Given the description of an element on the screen output the (x, y) to click on. 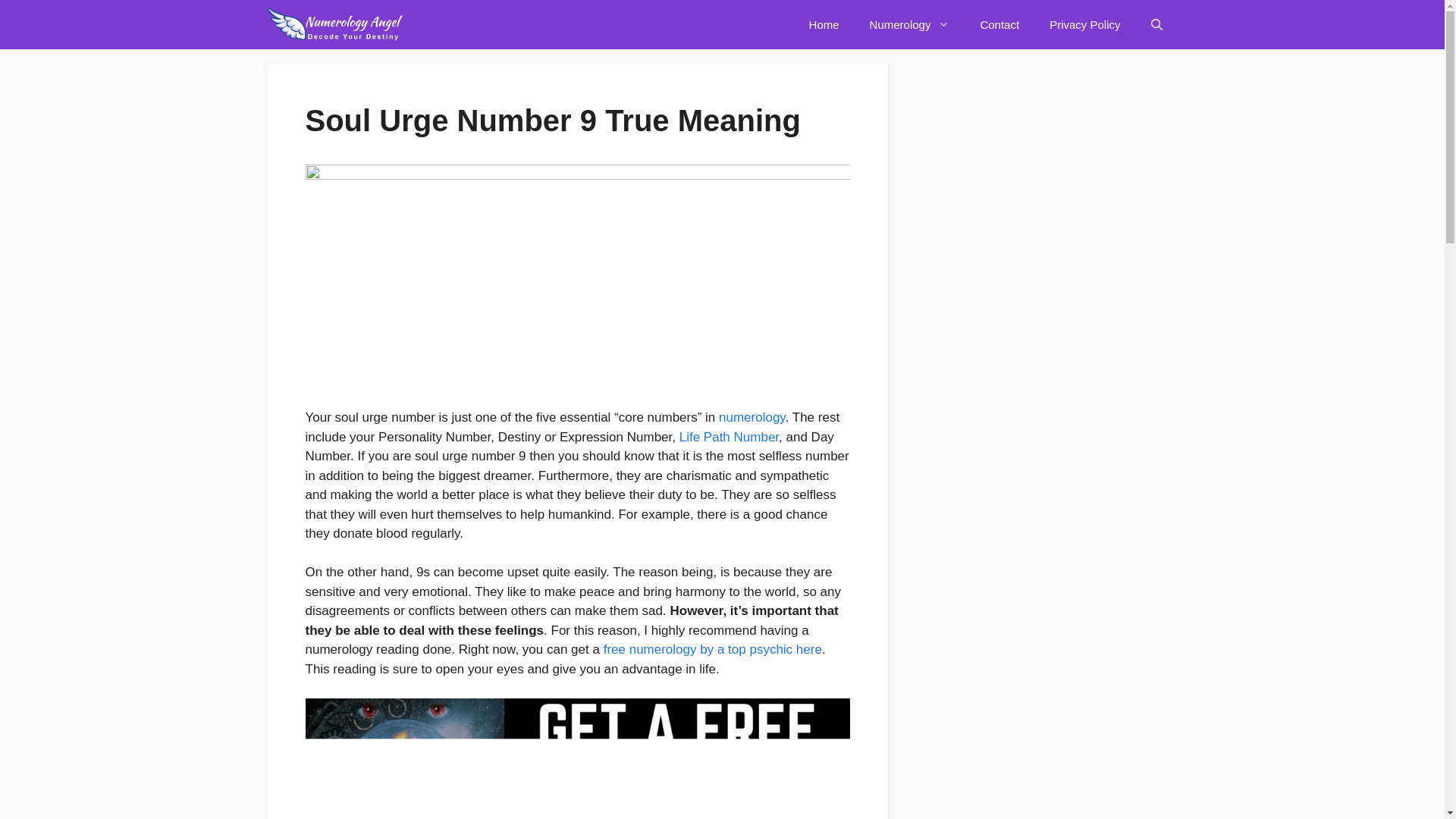
Home (823, 24)
Privacy Policy (1084, 24)
free numerology by a top psychic here (713, 649)
Numerology (909, 24)
numerology (752, 417)
Contact (998, 24)
Life Path Number (728, 436)
